Given the description of an element on the screen output the (x, y) to click on. 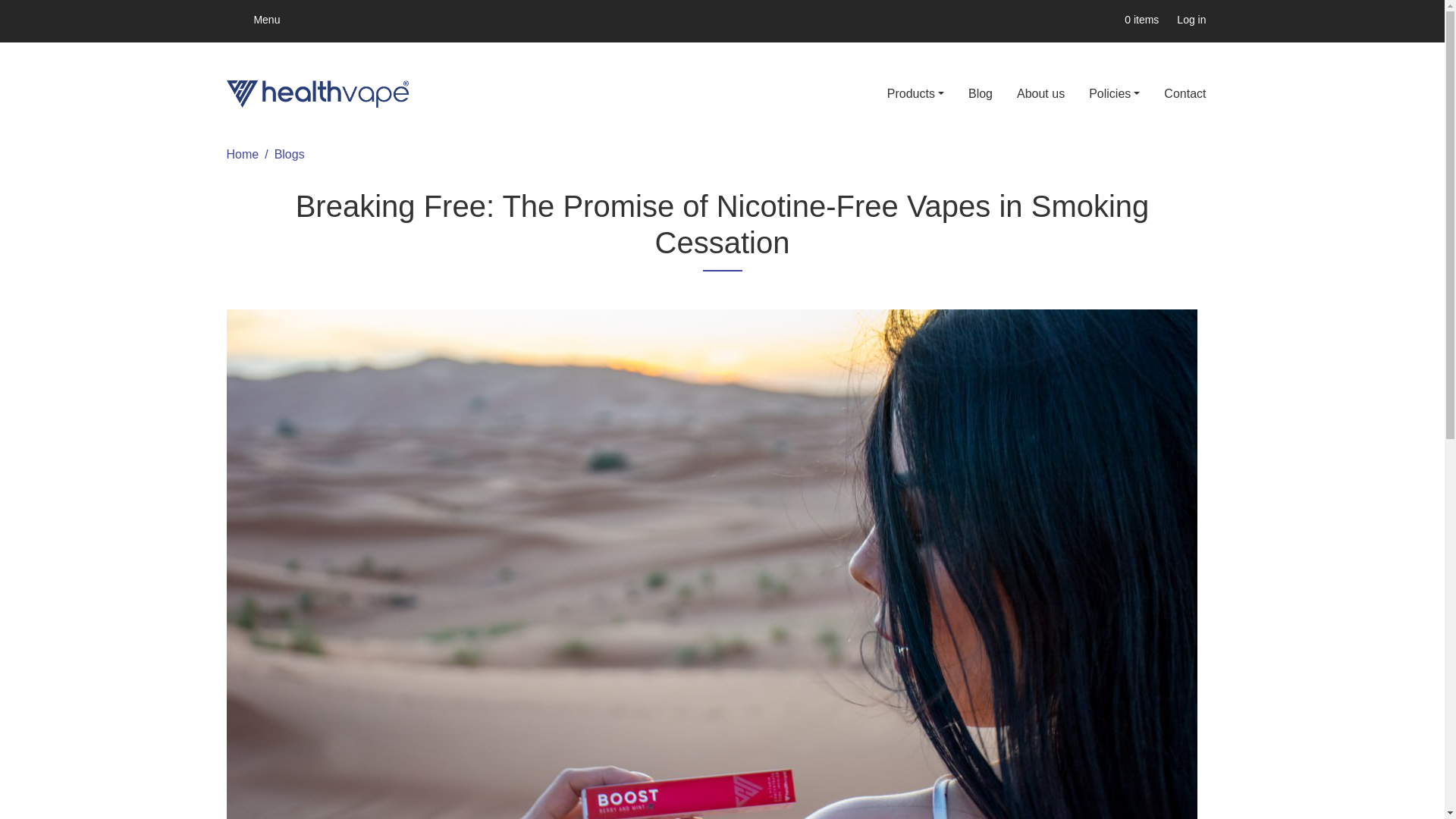
Basket (1111, 20)
Basket 0 items (1131, 19)
Blogs (289, 154)
Contact (1184, 93)
Blog (980, 93)
Expand menu Policies (1114, 93)
Log in (1190, 19)
Expand menu Products (915, 93)
Home (242, 154)
Products (915, 93)
